Given the description of an element on the screen output the (x, y) to click on. 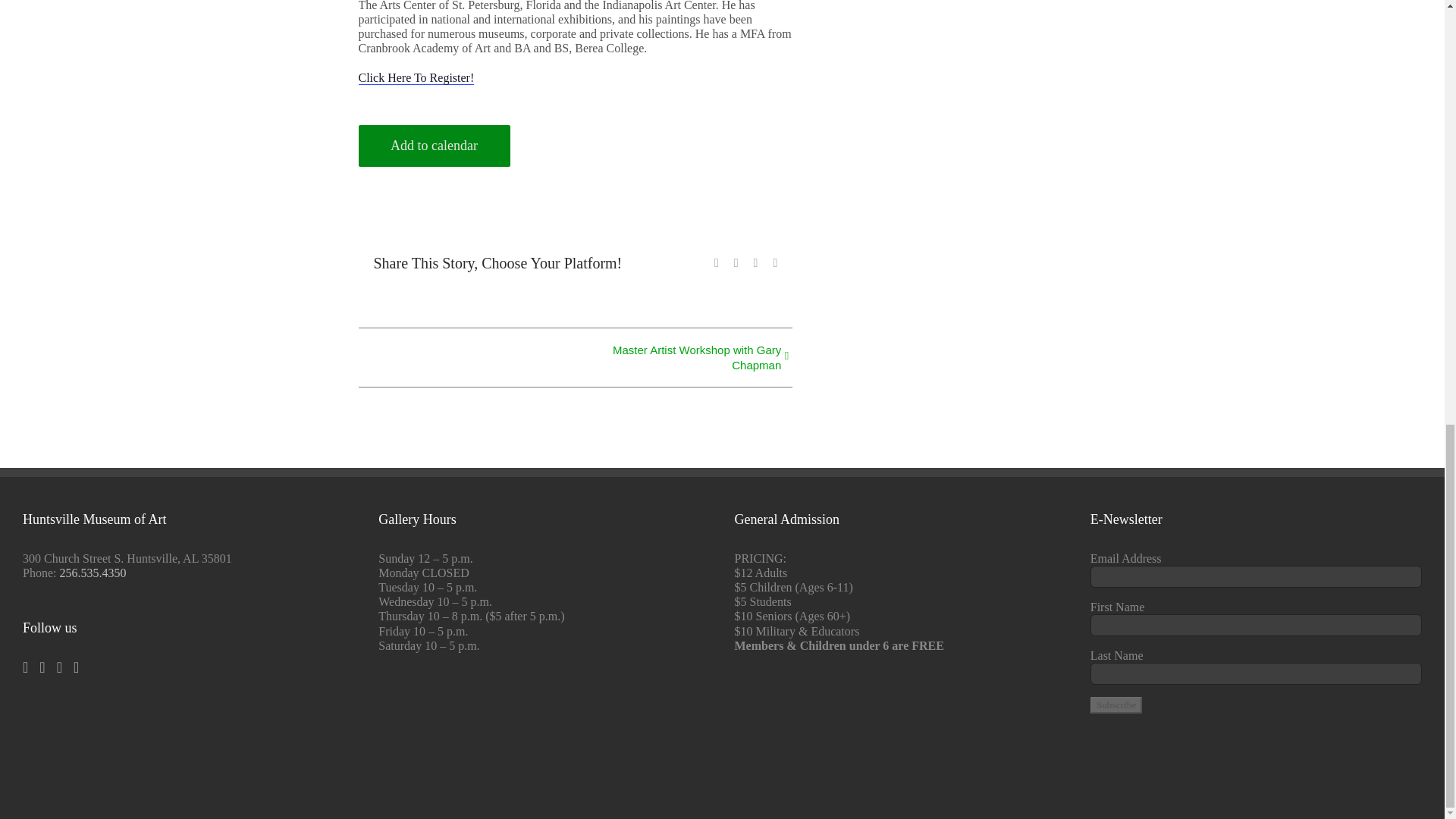
Subscribe (1116, 704)
